Given the description of an element on the screen output the (x, y) to click on. 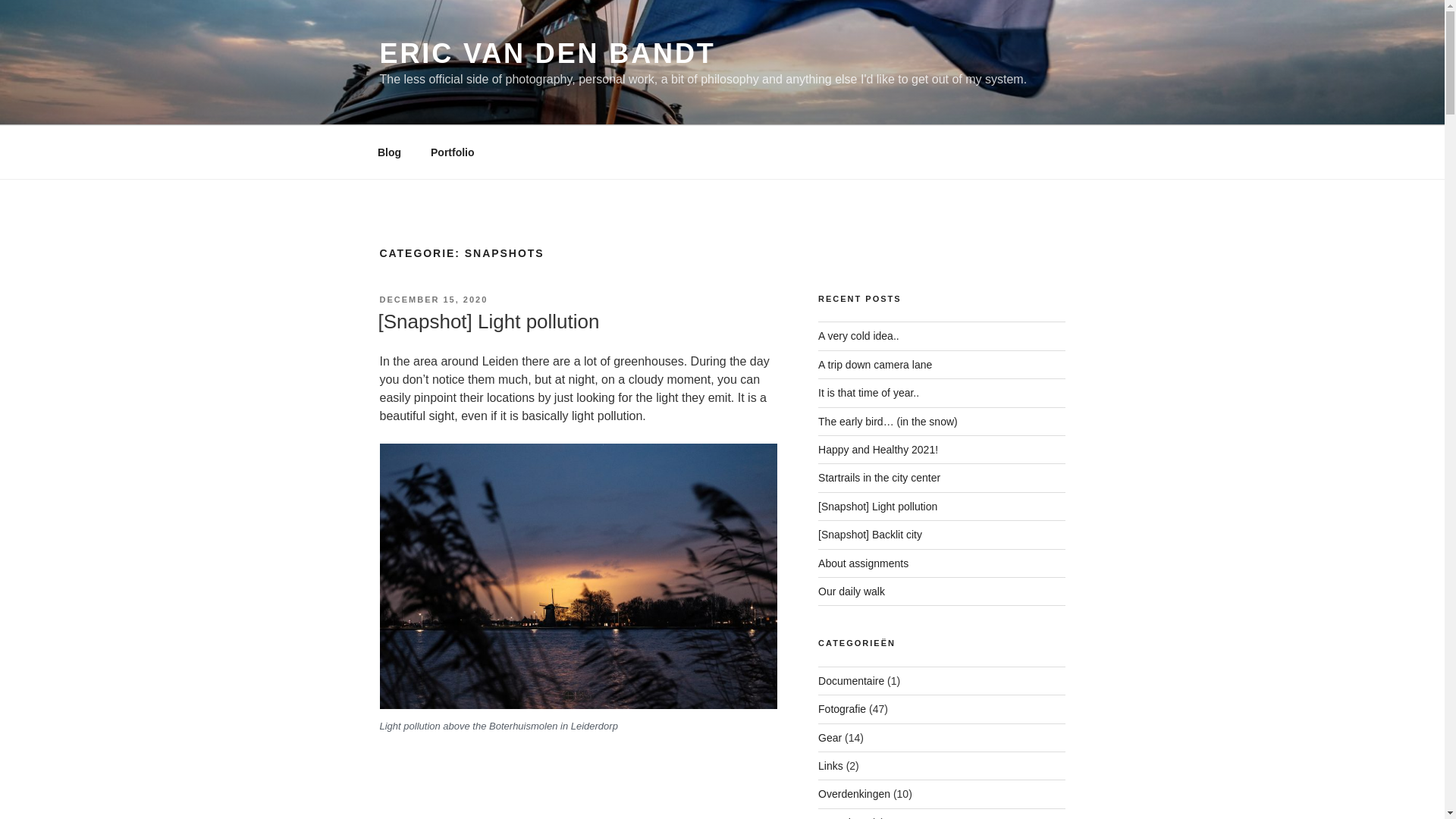
DECEMBER 15, 2020 (432, 298)
Blog (388, 151)
Happy and Healthy 2021! (877, 449)
Overdenkingen (853, 793)
Startrails in the city center (879, 477)
Documentaire (850, 680)
Portfolio (451, 151)
A very cold idea.. (858, 336)
Gear (829, 737)
Links (830, 766)
Fotografie (842, 708)
Snapshots (842, 817)
Our daily walk (851, 591)
About assignments (863, 563)
